Given the description of an element on the screen output the (x, y) to click on. 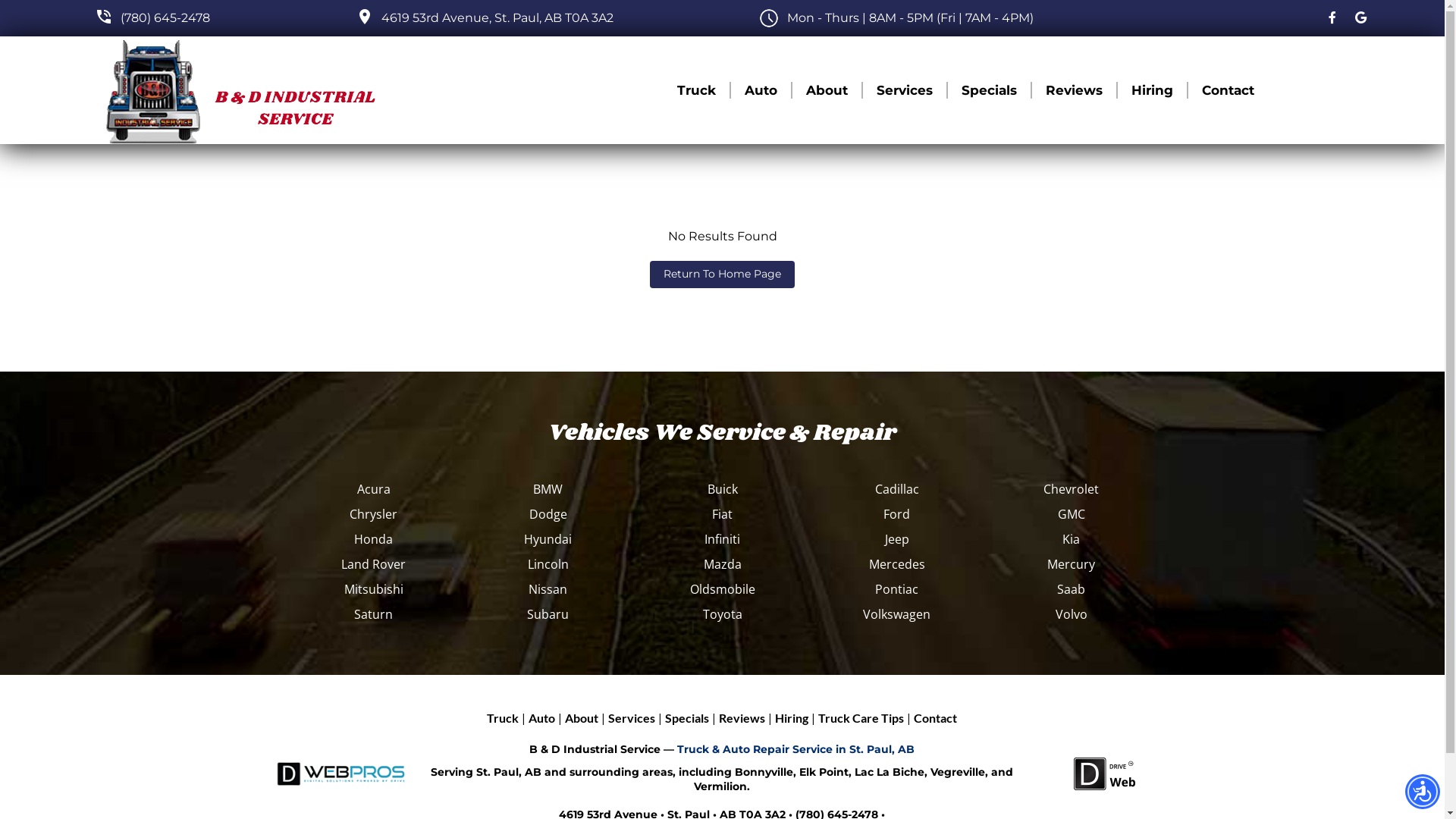
Contact Element type: text (935, 717)
Mercury Element type: text (1071, 564)
Jeep Element type: text (896, 539)
Truck Element type: text (502, 717)
Dodge Element type: text (548, 514)
BMW Element type: text (548, 489)
Mitsubishi Element type: text (373, 589)
Auto Element type: text (760, 90)
About Element type: text (826, 90)
Contact Element type: text (1227, 90)
Reviews Element type: text (741, 717)
Oldsmobile Element type: text (722, 589)
Honda Element type: text (373, 539)
Kia Element type: text (1071, 539)
Infiniti Element type: text (722, 539)
Services Element type: text (904, 90)
Auto Element type: text (541, 717)
Cadillac Element type: text (896, 489)
Saturn Element type: text (373, 614)
Hiring Element type: text (791, 717)
Lincoln Element type: text (548, 564)
Subaru Element type: text (548, 614)
Specials Element type: text (988, 90)
Services Element type: text (631, 717)
Acura Element type: text (373, 489)
Mercedes Element type: text (896, 564)
Truck Element type: text (696, 90)
Buick Element type: text (722, 489)
Mazda Element type: text (722, 564)
Hyundai Element type: text (548, 539)
Chrysler Element type: text (373, 514)
(780) 645-2478 Element type: text (165, 17)
Saab Element type: text (1071, 589)
Reviews Element type: text (1073, 90)
Truck & Auto Repair Service in St. Paul, AB Element type: text (795, 749)
Volkswagen Element type: text (896, 614)
Land Rover Element type: text (373, 564)
Ford Element type: text (896, 514)
Specials Element type: text (686, 717)
GMC Element type: text (1071, 514)
Return To Home Page Element type: text (721, 274)
Chevrolet Element type: text (1071, 489)
About Element type: text (581, 717)
Hiring Element type: text (1152, 90)
Truck Care Tips Element type: text (860, 717)
Nissan Element type: text (548, 589)
Pontiac Element type: text (896, 589)
Fiat Element type: text (722, 514)
Toyota Element type: text (722, 614)
Volvo Element type: text (1071, 614)
